Given the description of an element on the screen output the (x, y) to click on. 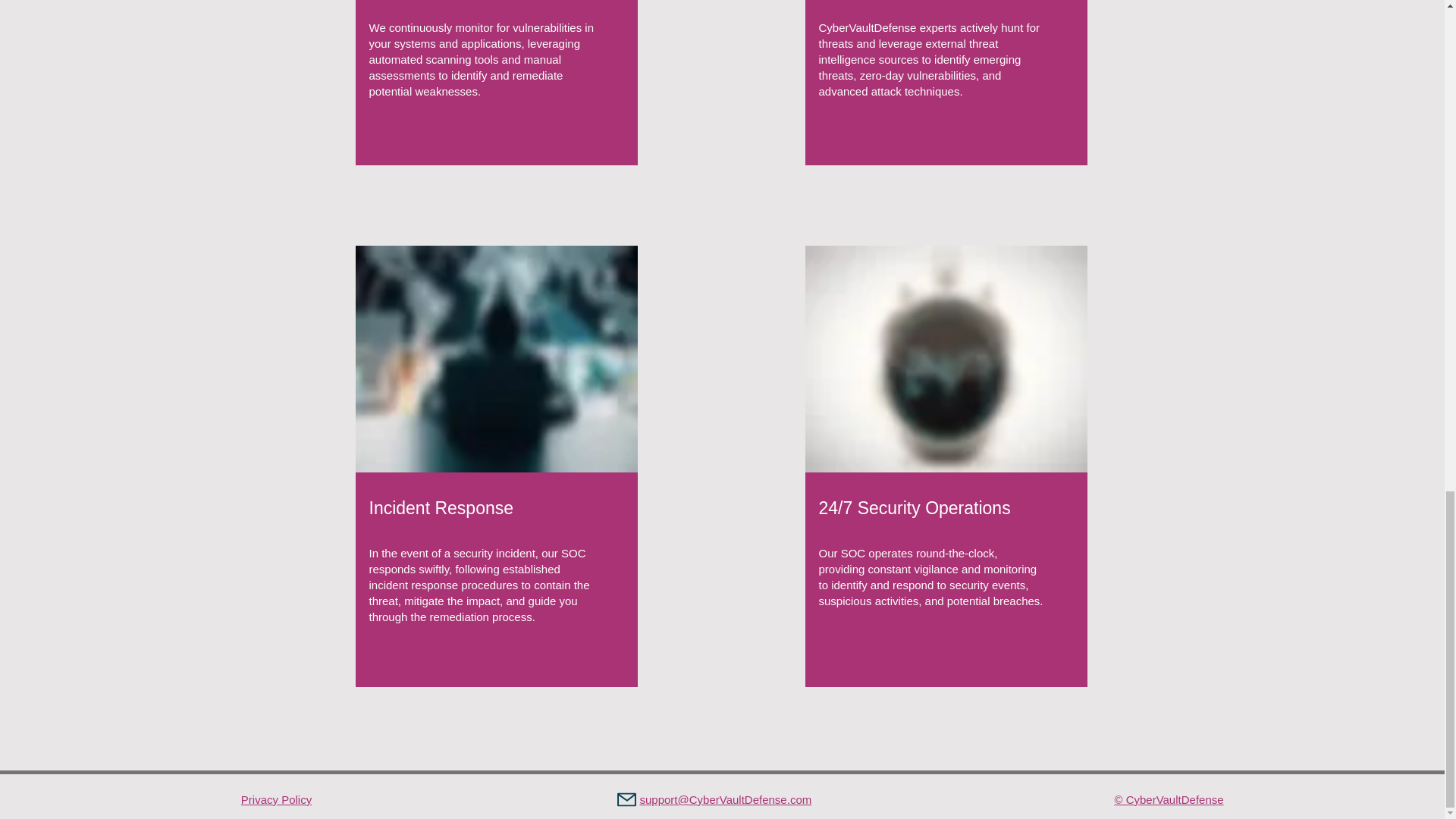
Privacy Policy (276, 799)
